Given the description of an element on the screen output the (x, y) to click on. 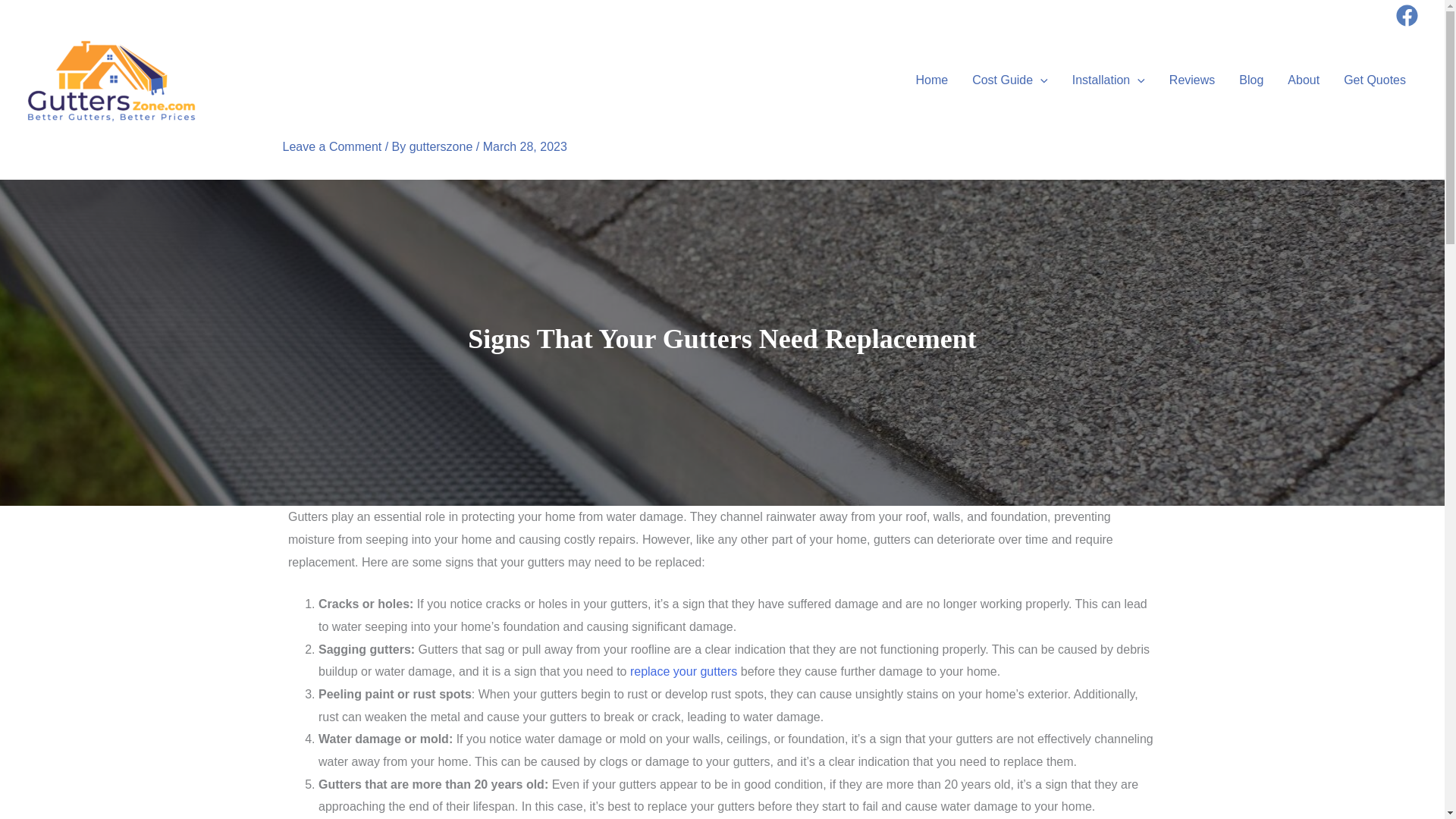
Installation (1108, 79)
About (1303, 79)
Home (930, 79)
View all posts by gutterszone (442, 146)
Reviews (1192, 79)
Get Quotes (1375, 79)
Cost Guide (1009, 79)
